Given the description of an element on the screen output the (x, y) to click on. 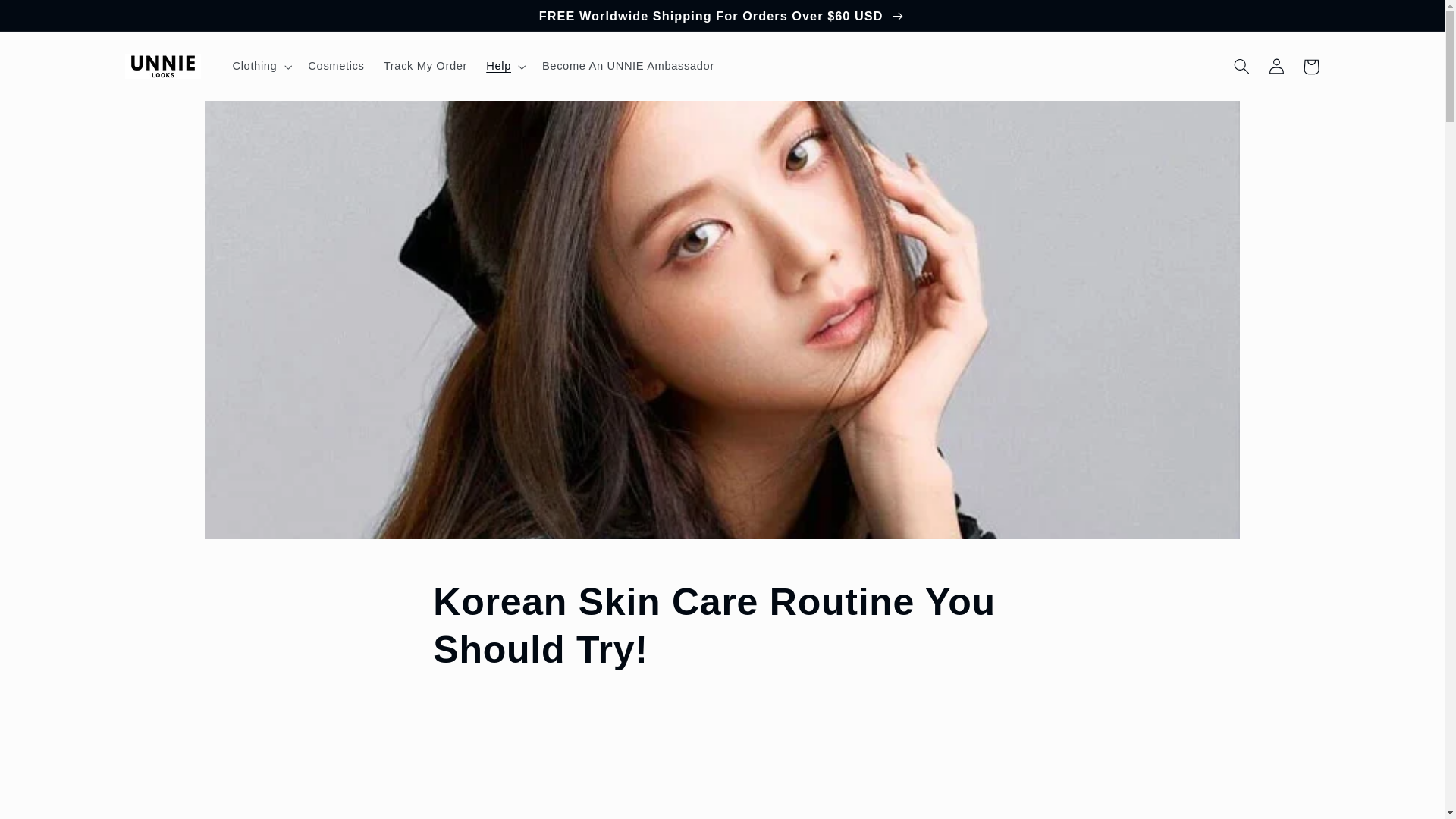
Skip to content (48, 18)
